Given the description of an element on the screen output the (x, y) to click on. 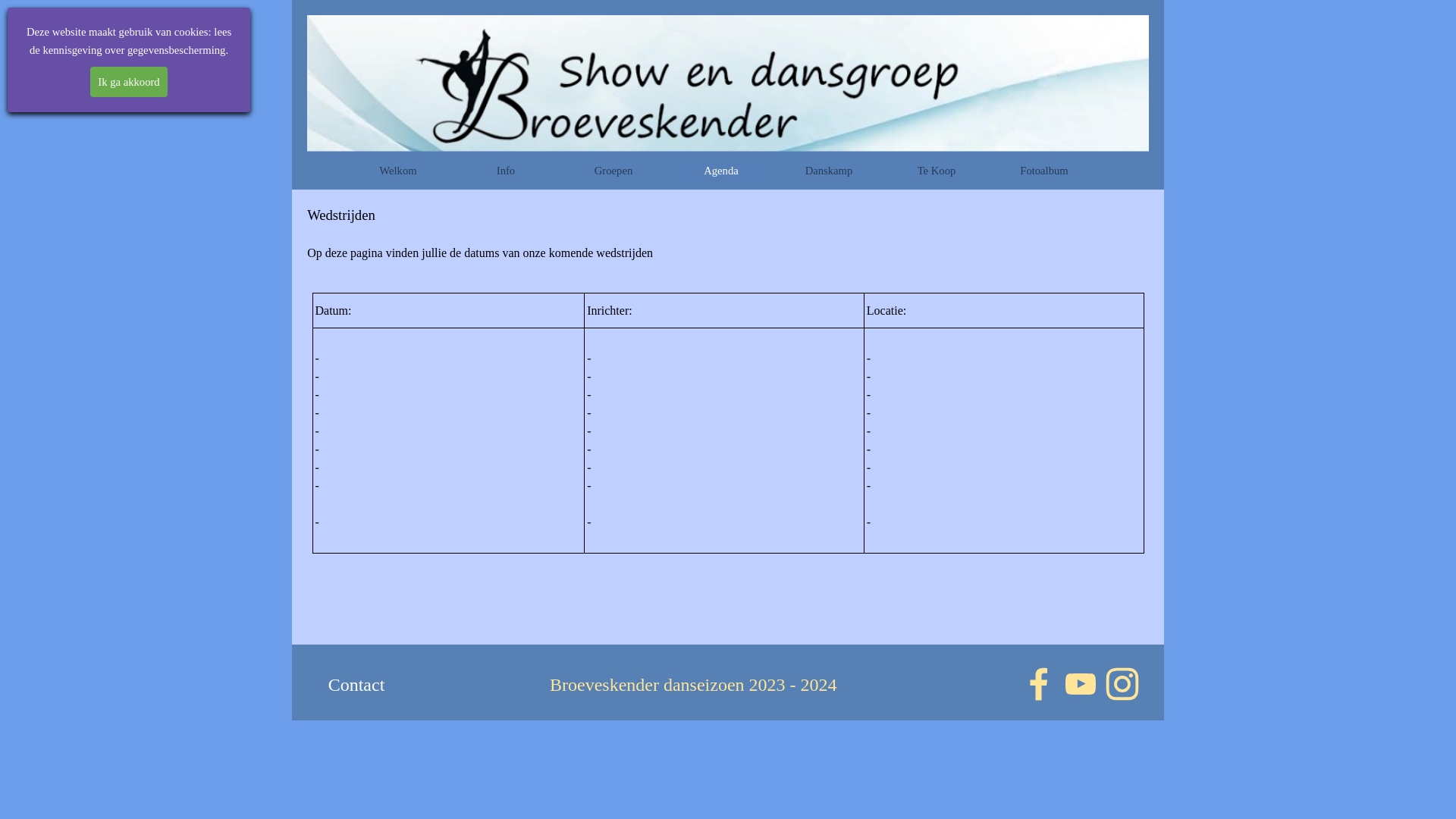
Contact Element type: text (356, 684)
Welkom Element type: text (397, 170)
